Given the description of an element on the screen output the (x, y) to click on. 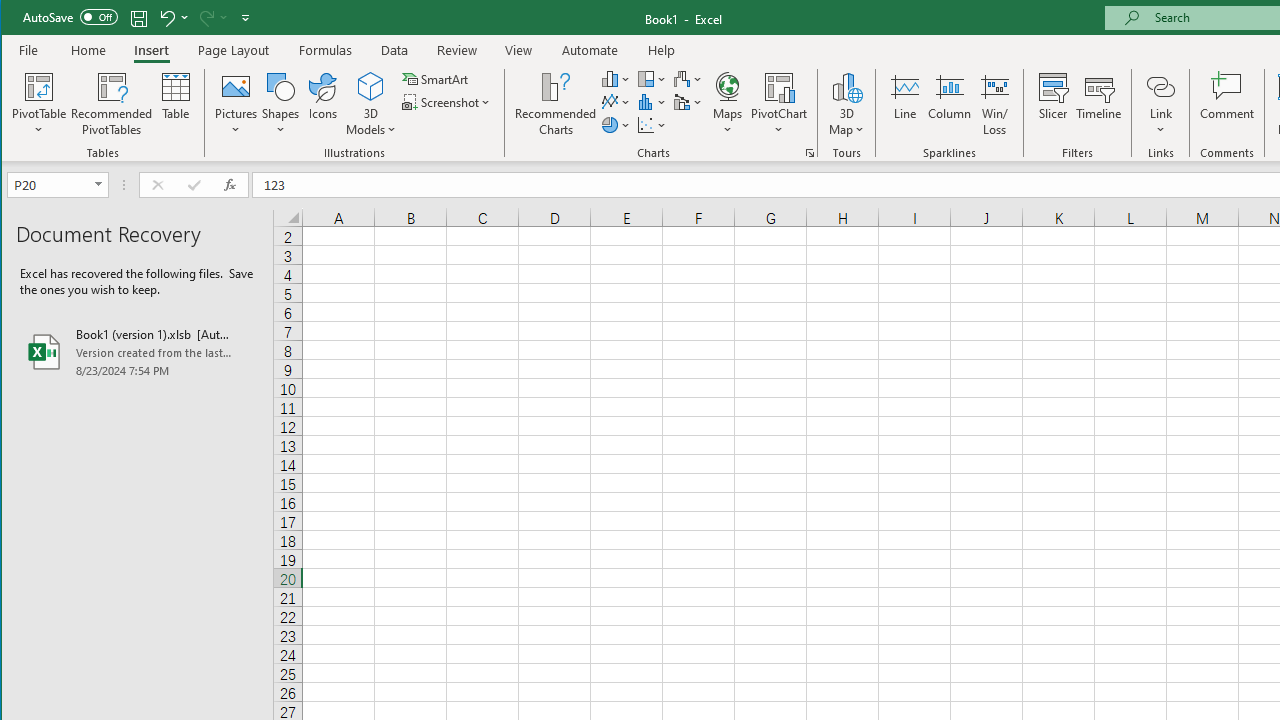
Recommended PivotTables (111, 104)
PivotTable (39, 104)
Pictures (235, 104)
3D Models (371, 104)
Slicer... (1052, 104)
Line (904, 104)
PivotTable (39, 86)
Comment (1227, 104)
